Given the description of an element on the screen output the (x, y) to click on. 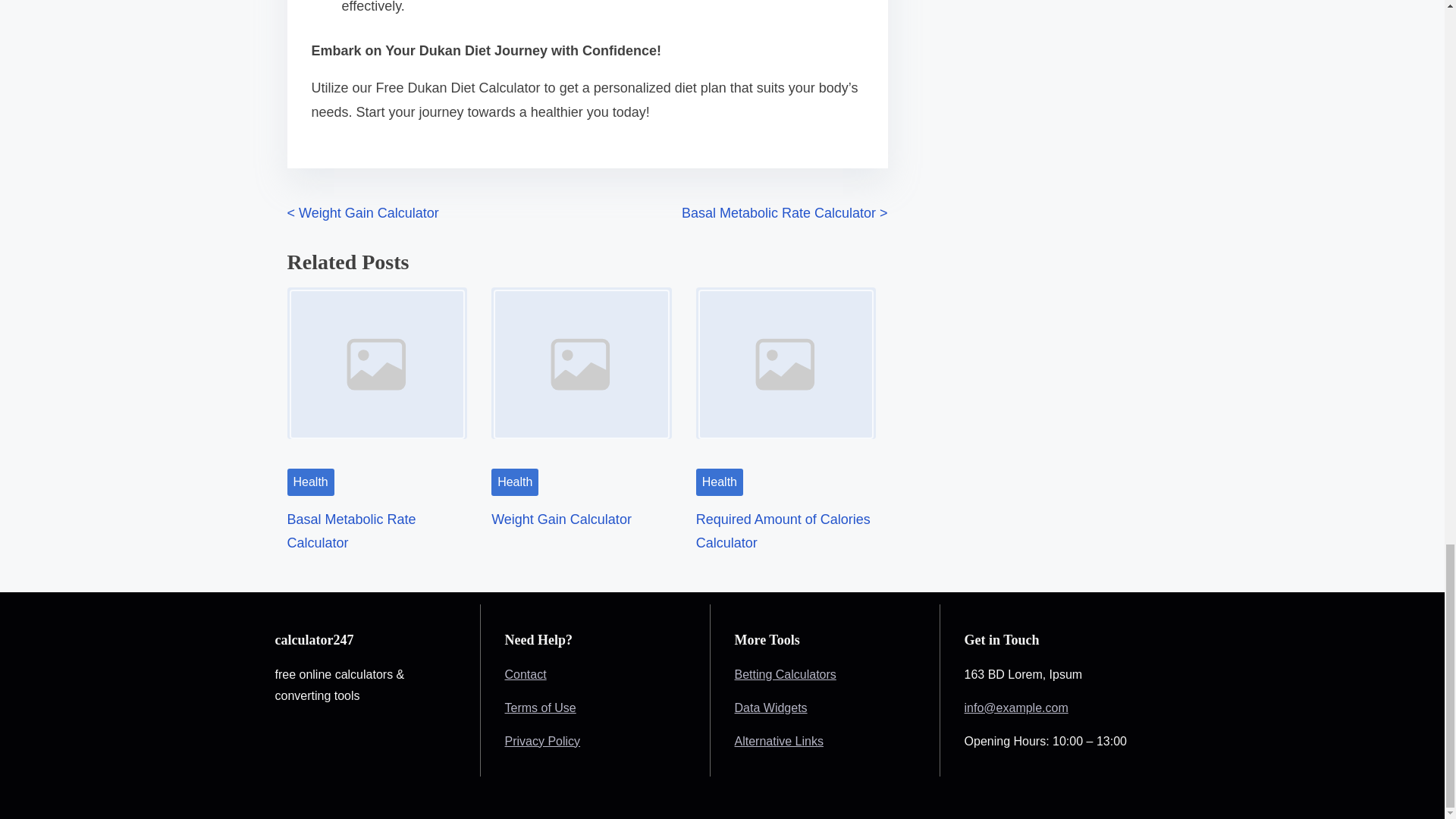
Contact (526, 673)
Image Placeholder (581, 373)
Privacy Policy (542, 739)
Health (718, 482)
Required Amount of Calories Calculator (782, 530)
Image Placeholder (785, 373)
Weight Gain Calculator (561, 518)
Data Widgets (771, 707)
Basal Metabolic Rate Calculator (350, 530)
Health (515, 482)
Image Placeholder (376, 373)
Betting Calculators (785, 673)
Health (309, 482)
Alternative Links (779, 739)
Terms of Use (540, 707)
